Given the description of an element on the screen output the (x, y) to click on. 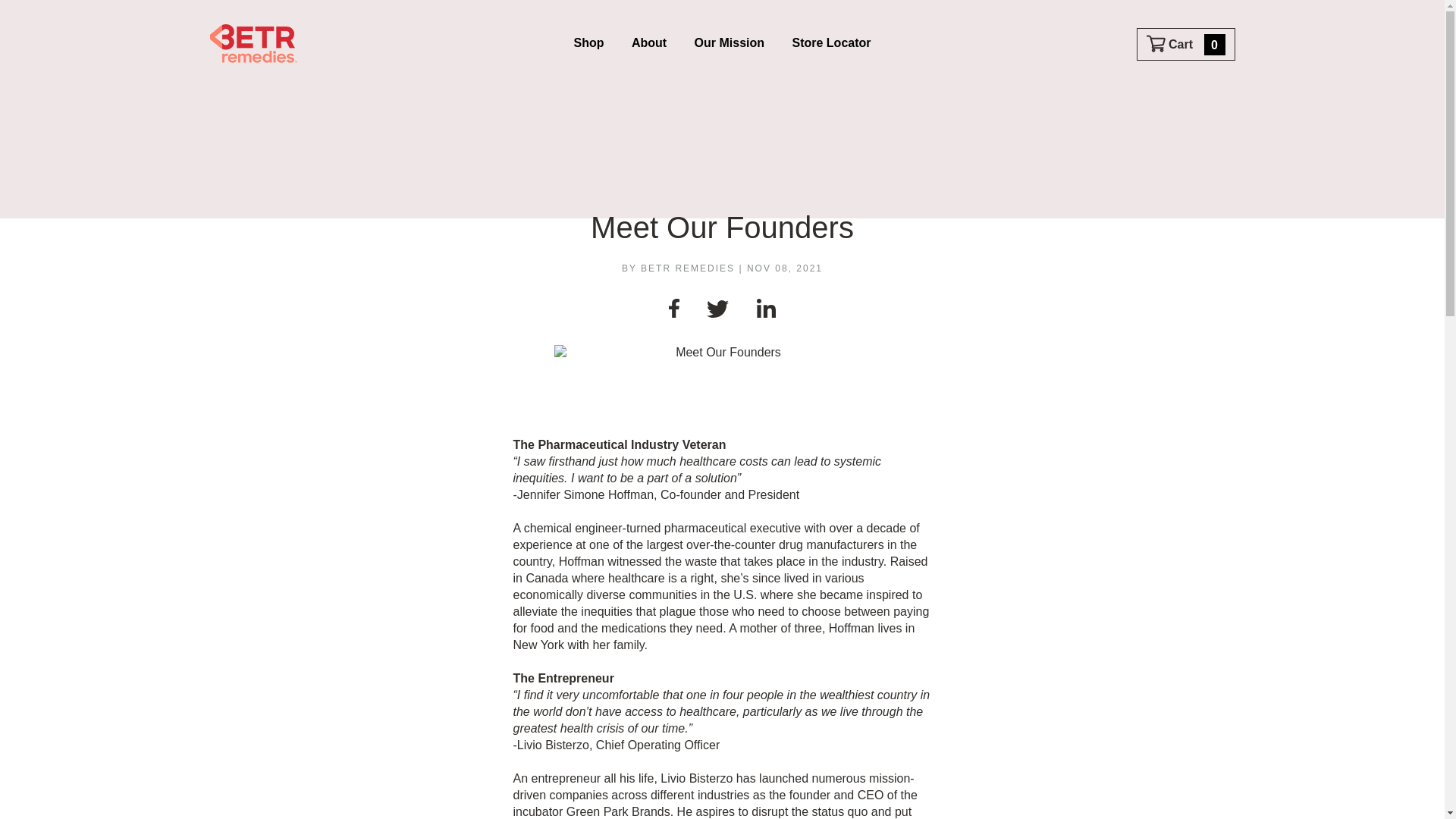
Cart 0 (1185, 43)
Store Locator (831, 43)
About (648, 43)
Shop (588, 43)
Our Mission (729, 43)
